Given the description of an element on the screen output the (x, y) to click on. 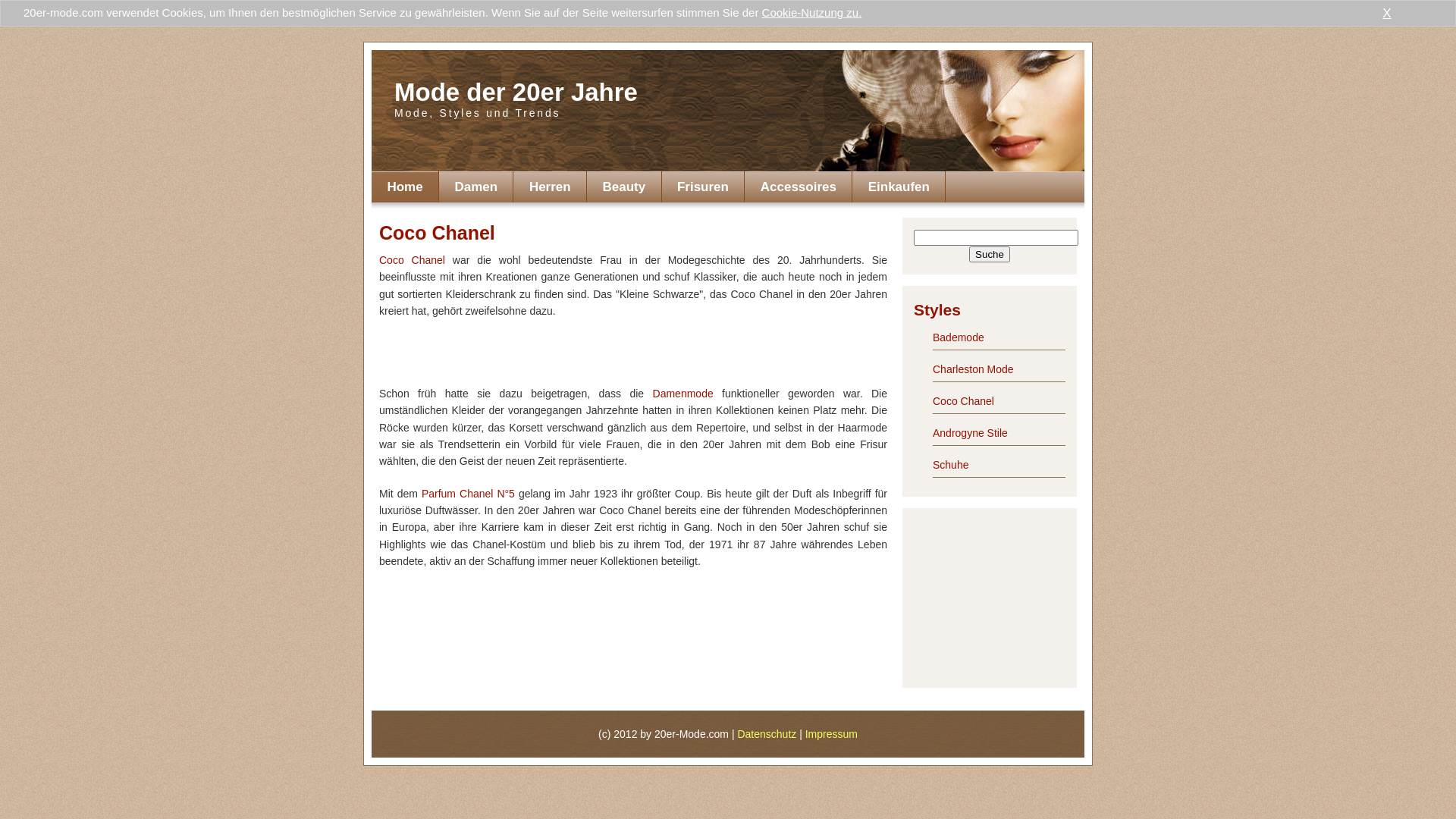
Damen Element type: text (476, 186)
Impressum Element type: text (831, 734)
Datenschutz Element type: text (766, 734)
Einkaufen Element type: text (898, 186)
Advertisement Element type: hover (989, 595)
Advertisement Element type: hover (632, 356)
Androgyne Stile Element type: text (969, 432)
Beauty Element type: text (623, 186)
Accessoires Element type: text (798, 186)
Charleston Mode Element type: text (972, 369)
X Element type: text (1386, 12)
Mode der 20er Jahre Element type: text (515, 92)
Damenmode Element type: text (682, 393)
Frisuren Element type: text (703, 186)
Schuhe Element type: text (950, 464)
Home Element type: text (405, 186)
Coco Chanel Element type: text (963, 401)
Suche Element type: text (989, 254)
Cookie-Nutzung zu. Element type: text (812, 12)
Herren Element type: text (549, 186)
Coco Chanel Element type: text (412, 260)
Bademode Element type: text (958, 337)
